Given the description of an element on the screen output the (x, y) to click on. 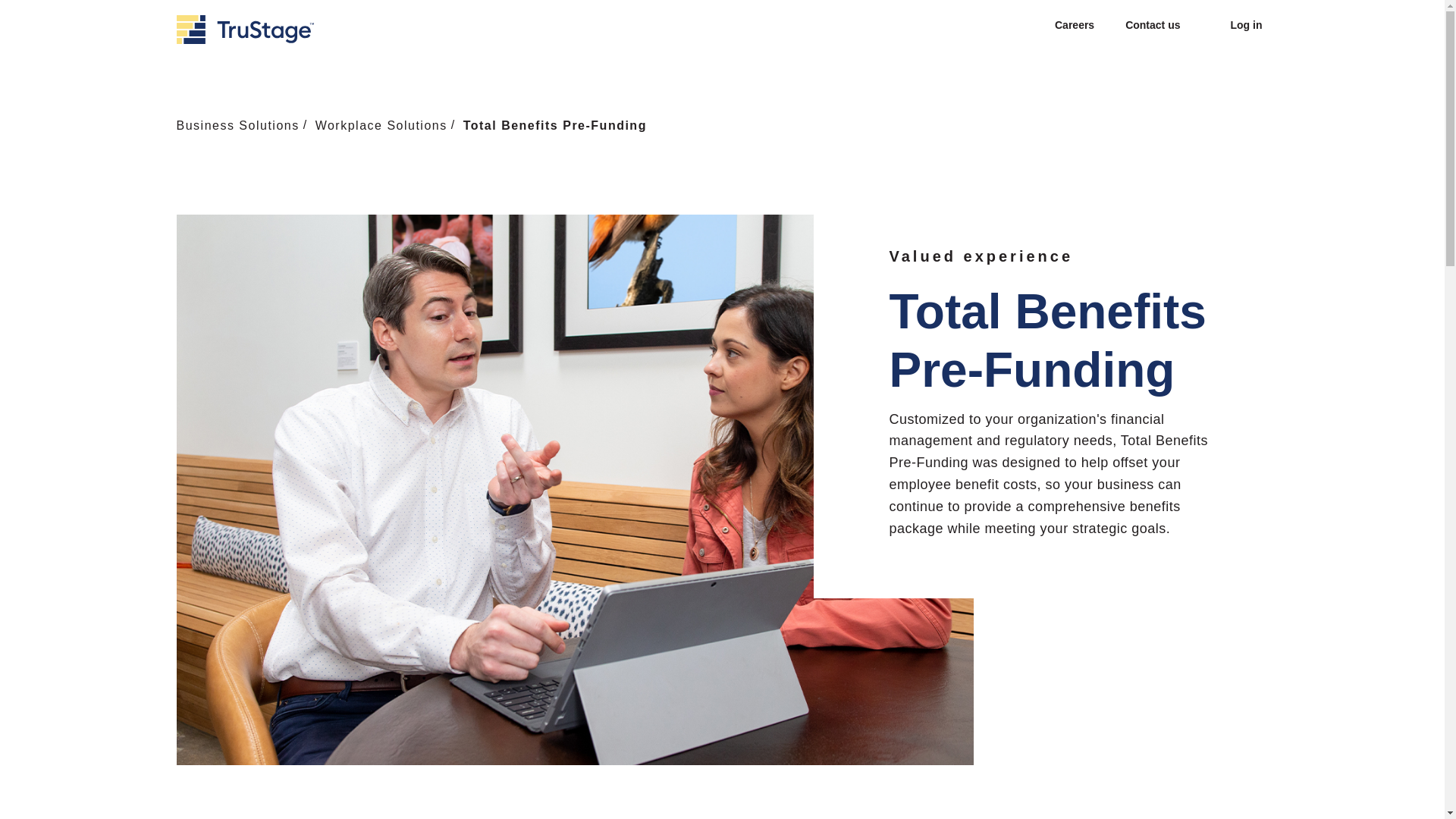
Return to Homepage (245, 29)
Search (1016, 24)
